Given the description of an element on the screen output the (x, y) to click on. 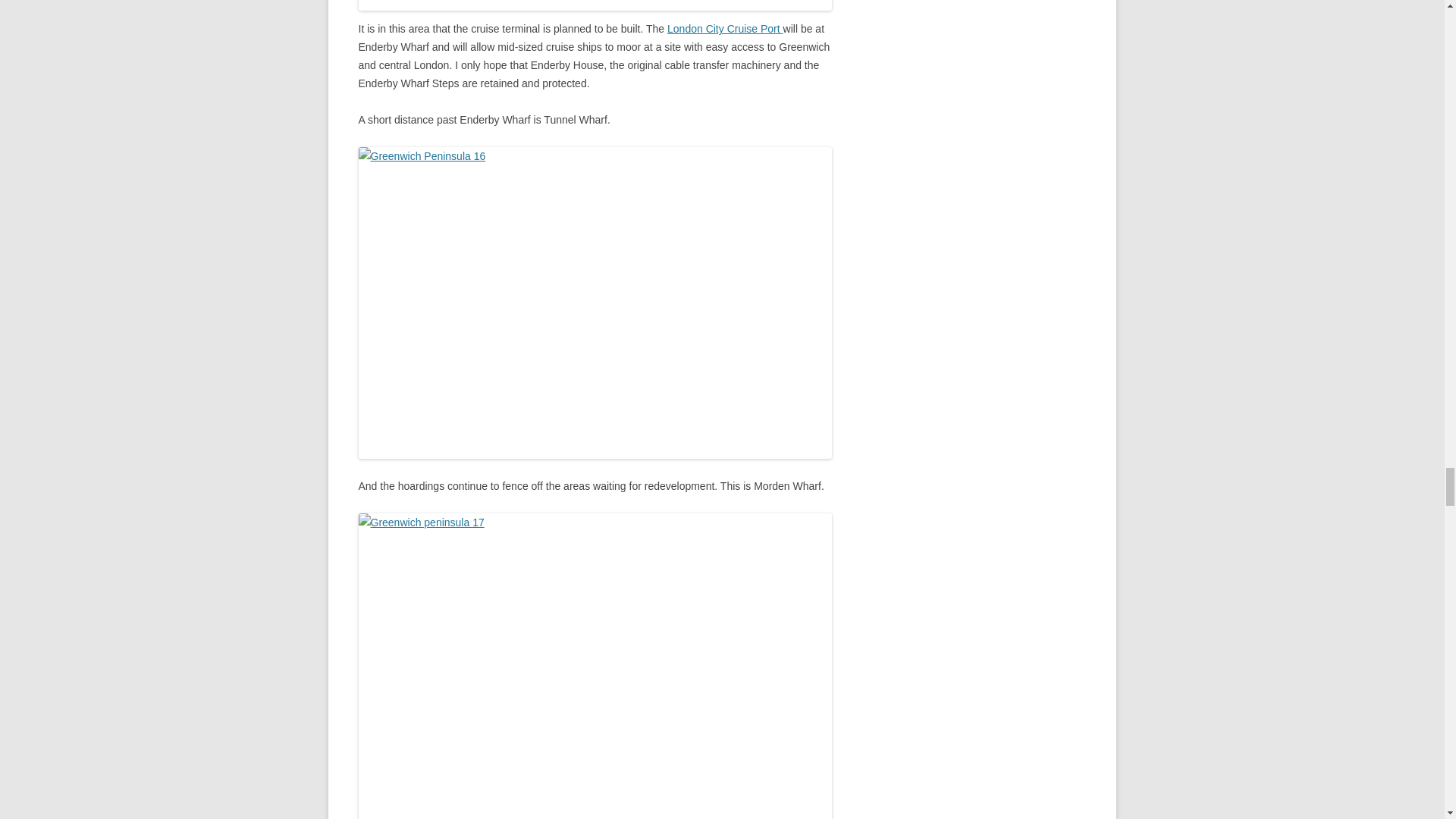
London City Cruise Port (724, 28)
